Given the description of an element on the screen output the (x, y) to click on. 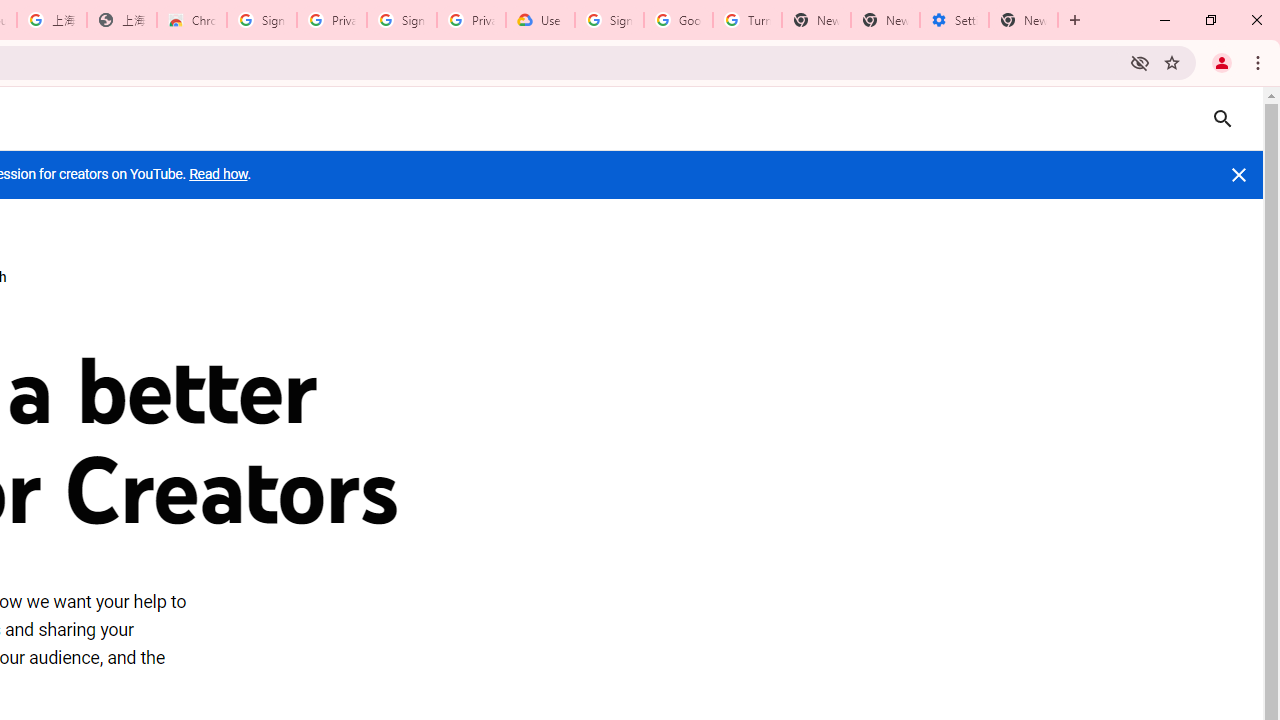
Sign in - Google Accounts (401, 20)
Sign in - Google Accounts (608, 20)
New Tab (1023, 20)
Google Account Help (677, 20)
Chrome Web Store - Color themes by Chrome (191, 20)
